Given the description of an element on the screen output the (x, y) to click on. 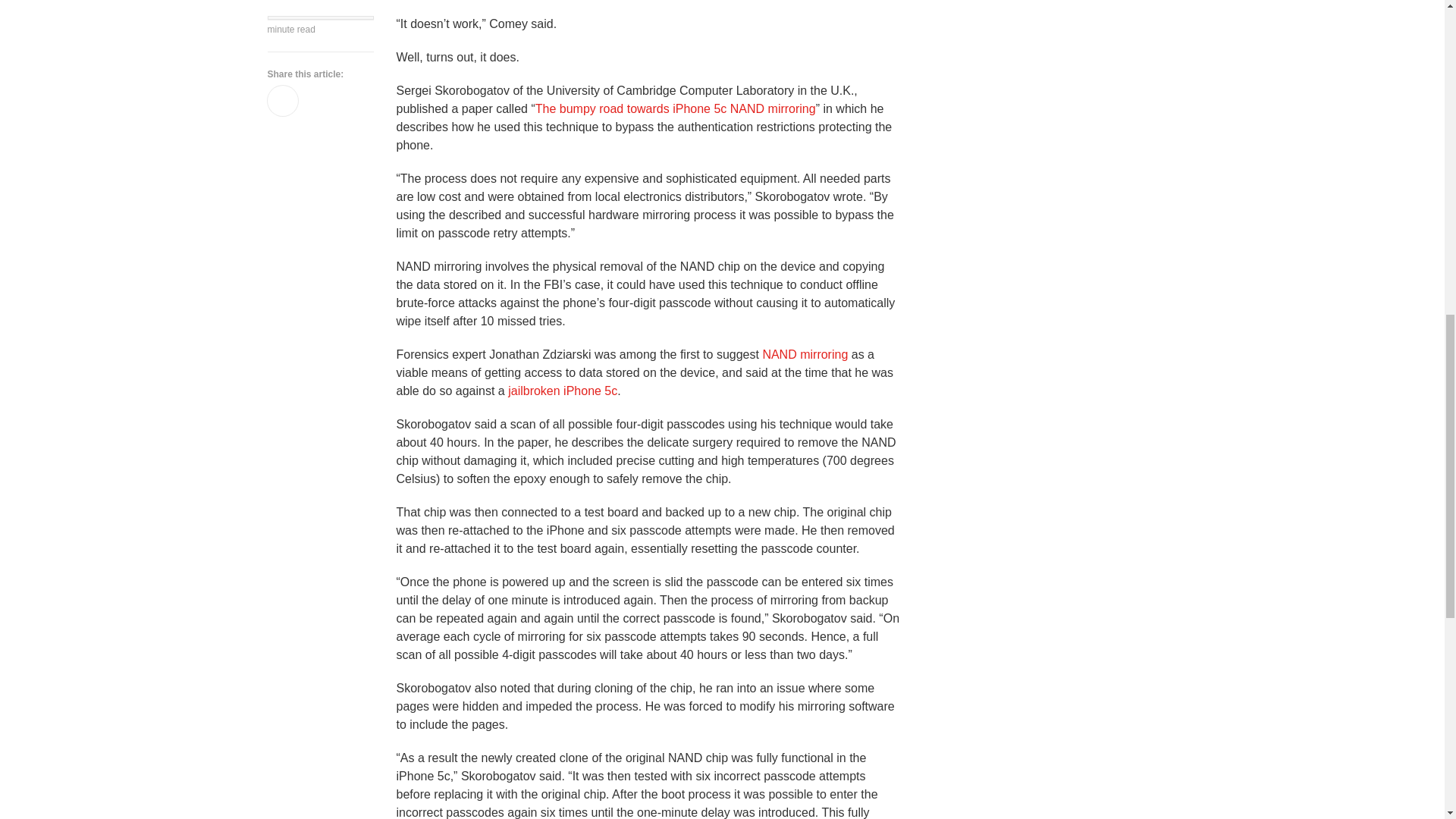
jailbroken iPhone 5c (562, 390)
NAND mirroring (804, 354)
The bumpy road towards iPhone 5c NAND mirroring (675, 108)
